Given the description of an element on the screen output the (x, y) to click on. 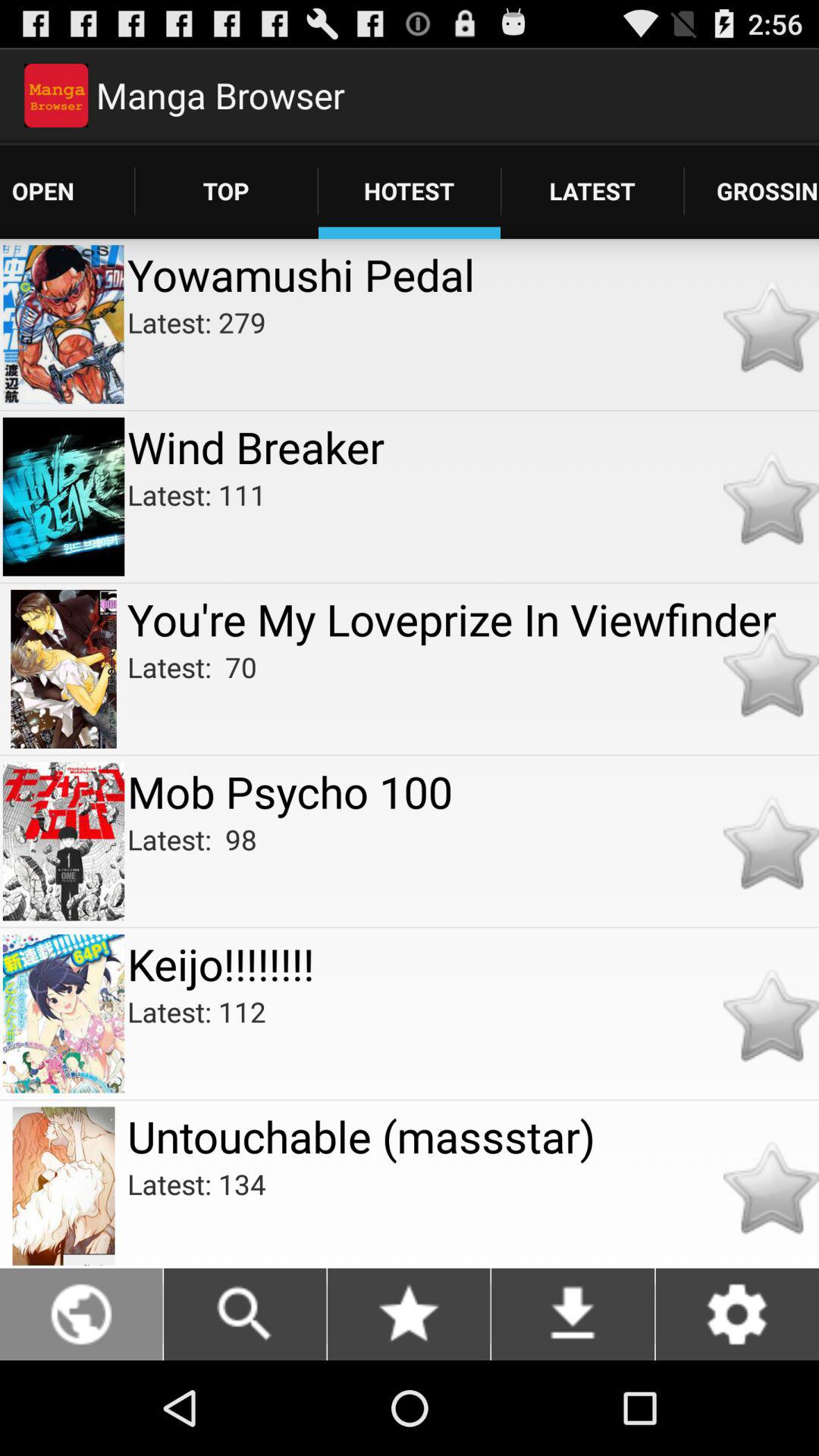
launch the icon above latest:  98 app (473, 791)
